Given the description of an element on the screen output the (x, y) to click on. 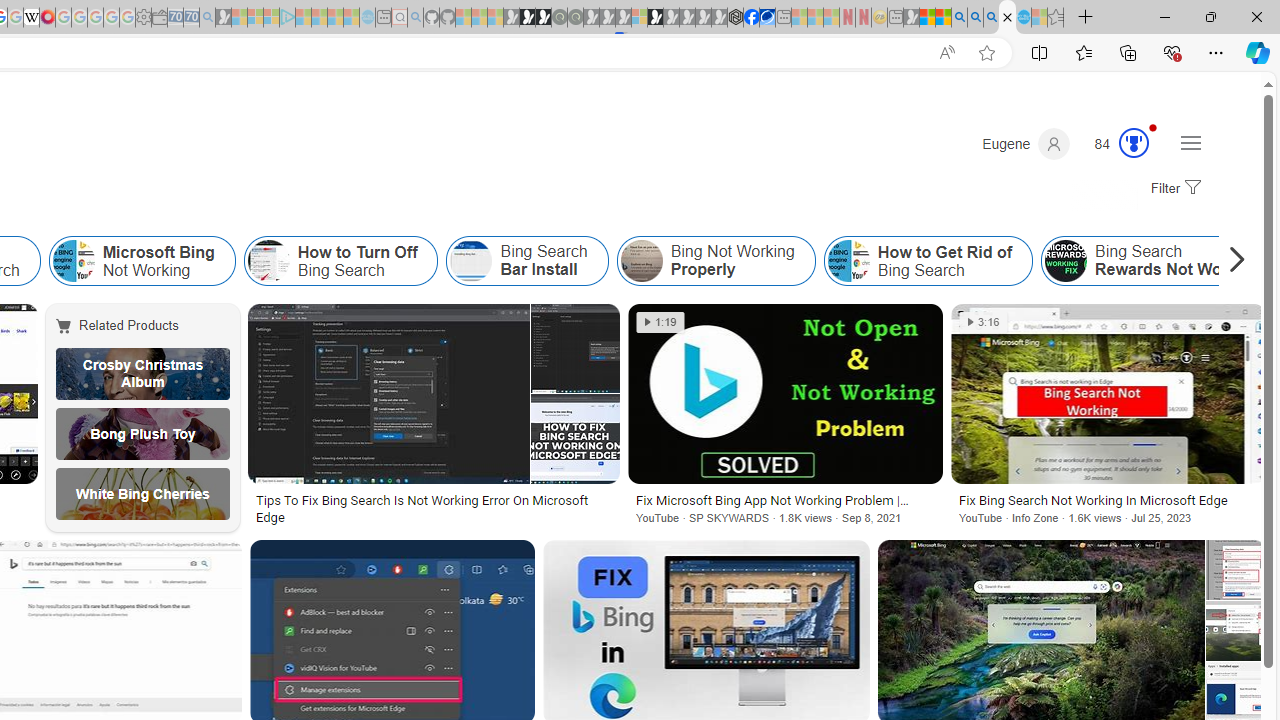
How to Get Rid of Bing Search (848, 260)
Target page - Wikipedia (31, 17)
Nordace - Cooler Bags (735, 17)
1:19 (660, 322)
Settings and quick links (1190, 142)
AutomationID: rh_meter (1133, 142)
